Given the description of an element on the screen output the (x, y) to click on. 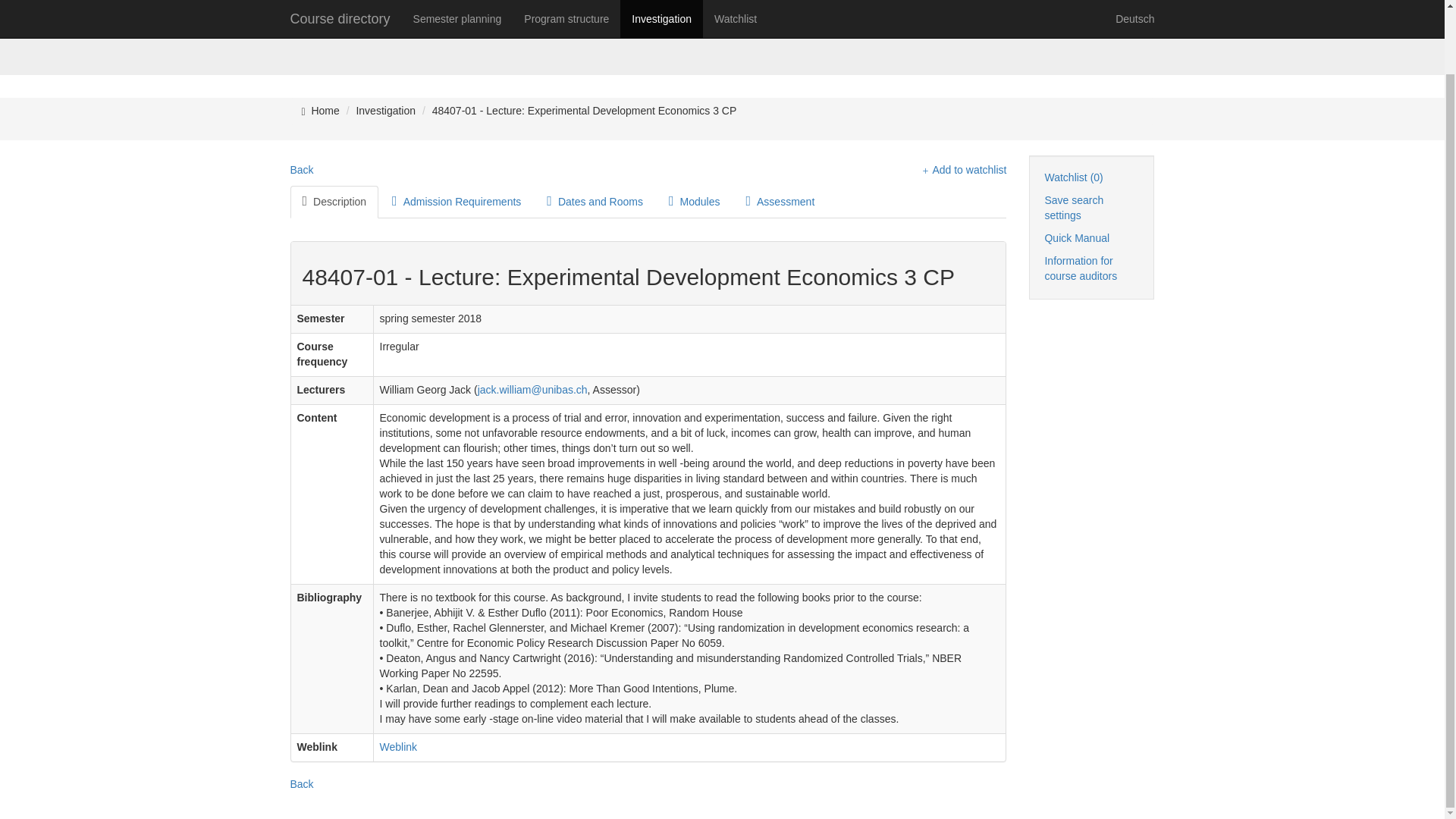
Description (333, 201)
Add to watchlist (962, 169)
Weblink (398, 746)
Back (301, 169)
Admission Requirements (456, 201)
Information for course auditors (1079, 267)
Dates and Rooms (594, 201)
Home (325, 110)
Modules (694, 201)
Investigation (384, 110)
